Given the description of an element on the screen output the (x, y) to click on. 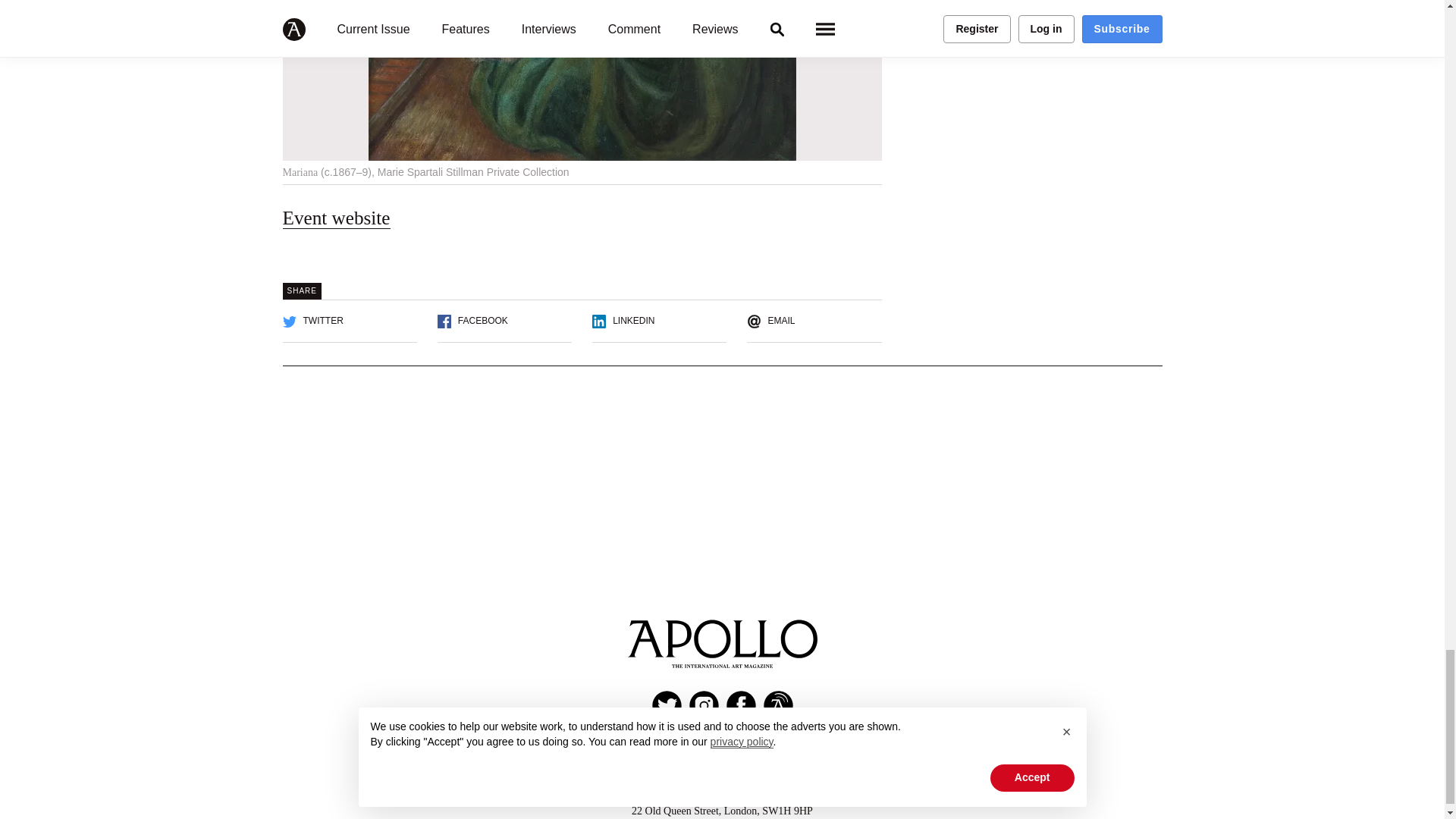
Mariana (581, 80)
